Given the description of an element on the screen output the (x, y) to click on. 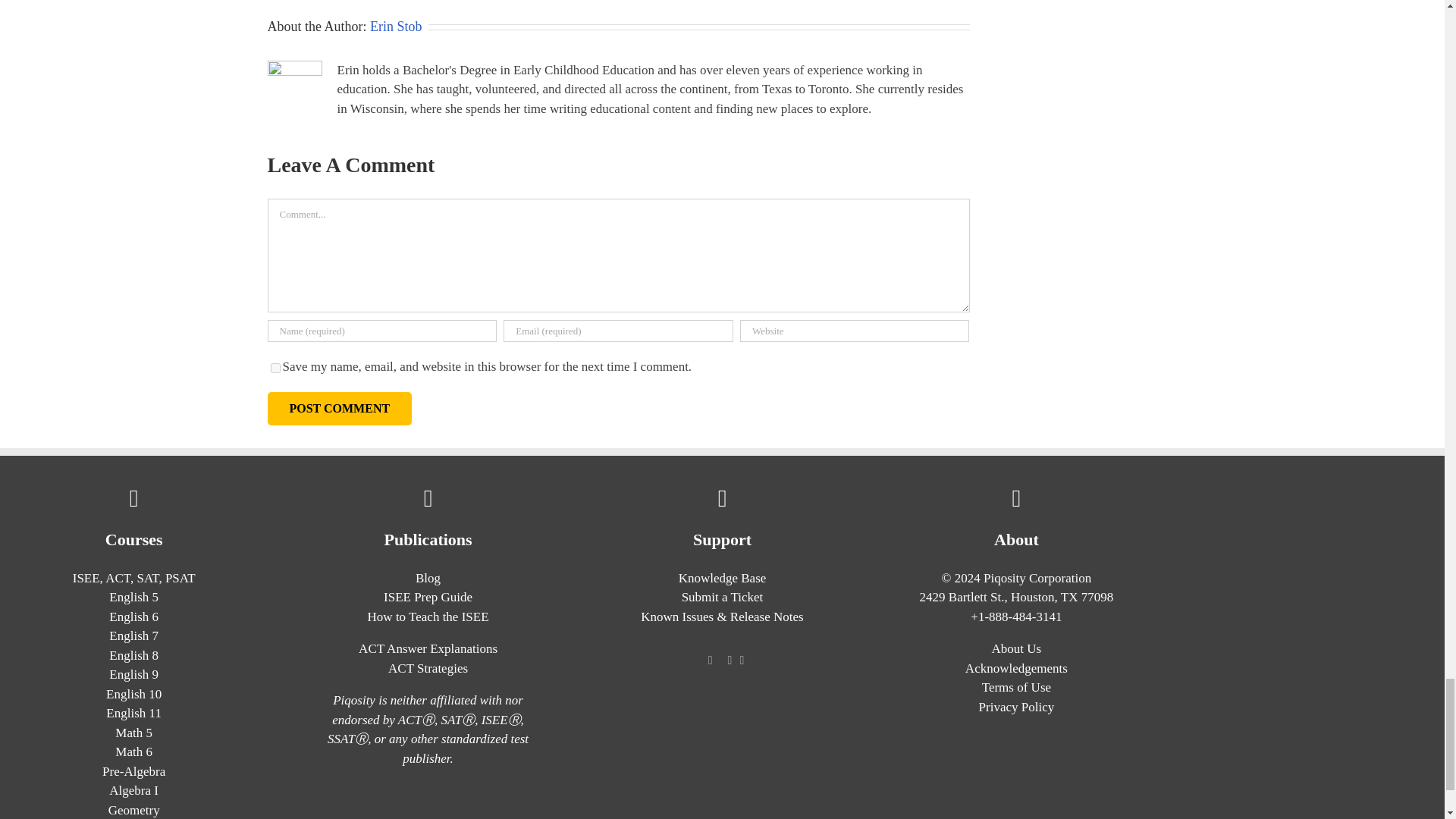
yes (274, 368)
Post Comment (339, 408)
Posts by Erin Stob (395, 26)
